Given the description of an element on the screen output the (x, y) to click on. 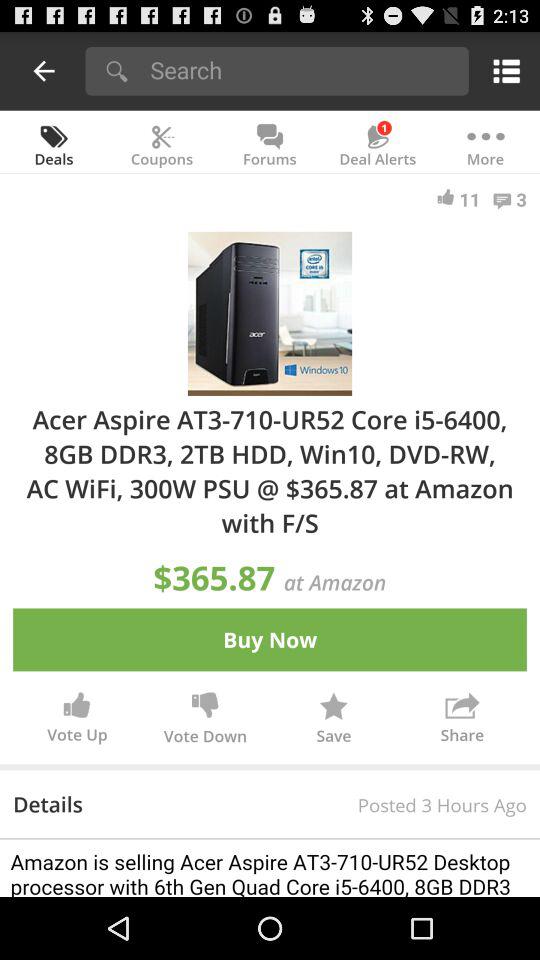
open the icon above the more app (502, 70)
